Given the description of an element on the screen output the (x, y) to click on. 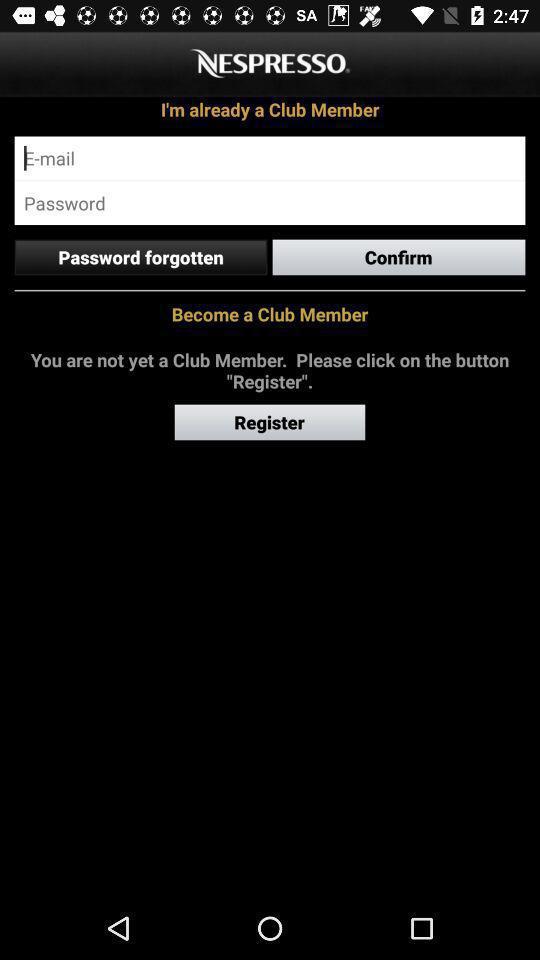
tap the item at the top left corner (140, 257)
